Given the description of an element on the screen output the (x, y) to click on. 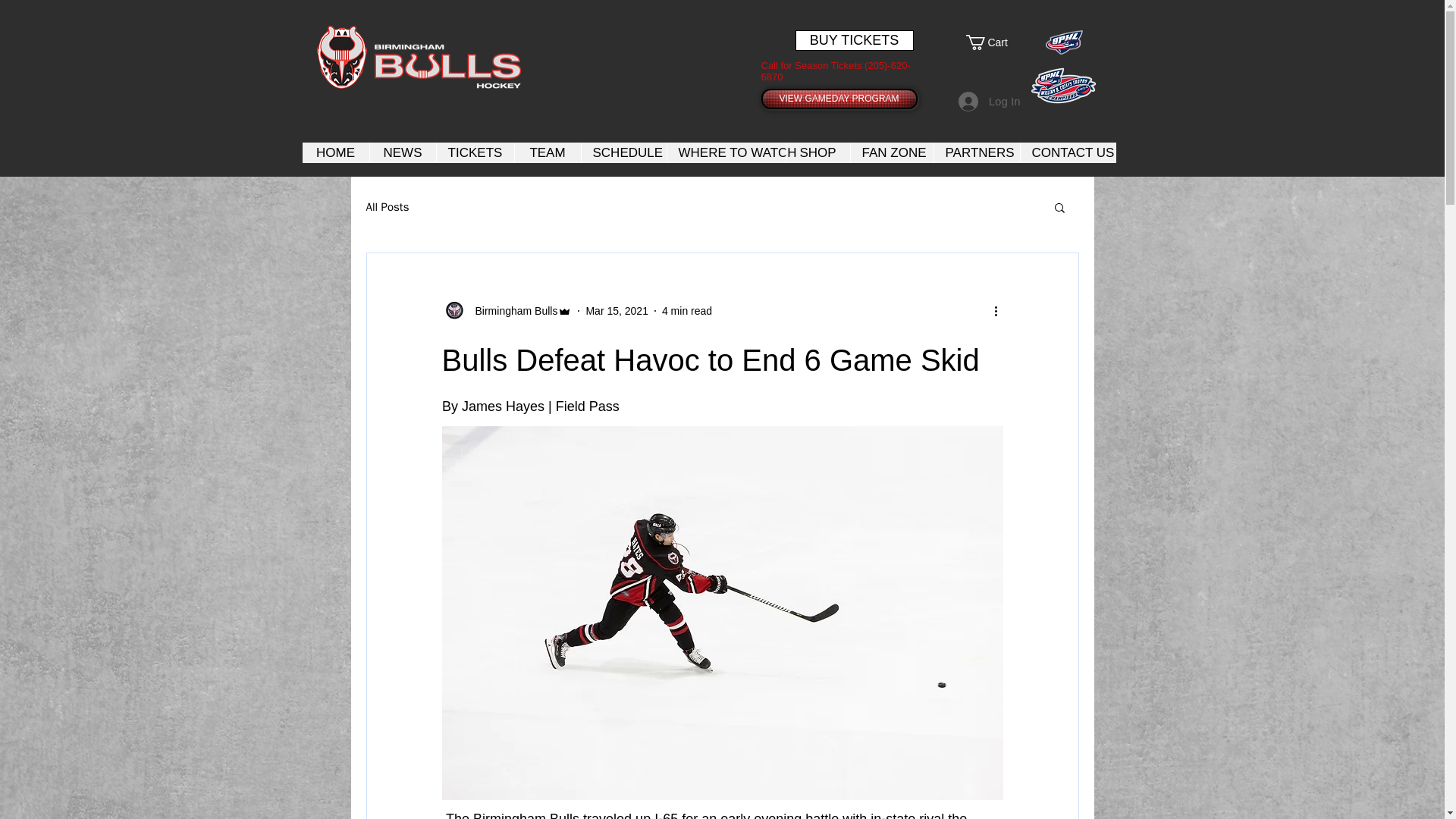
SHOP (818, 152)
Cart (995, 42)
SCHEDULE (623, 152)
Mar 15, 2021 (616, 310)
WHERE TO WATCH (724, 152)
Cart (995, 42)
TEAM (546, 152)
CONTACT US (1067, 152)
Birmingham Bulls (511, 311)
PARTNERS (976, 152)
